Given the description of an element on the screen output the (x, y) to click on. 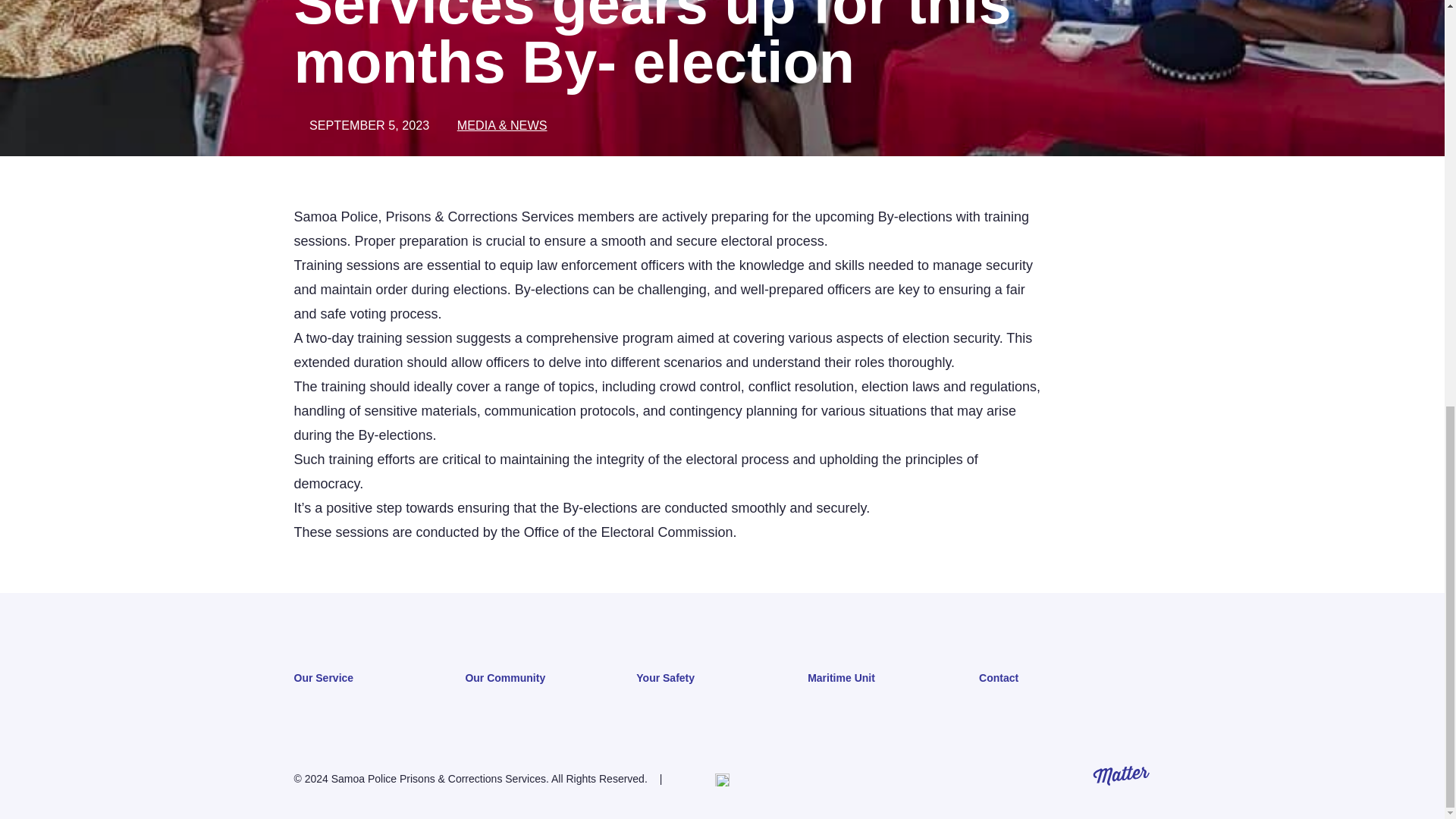
Matter Solutions (1120, 775)
